Given the description of an element on the screen output the (x, y) to click on. 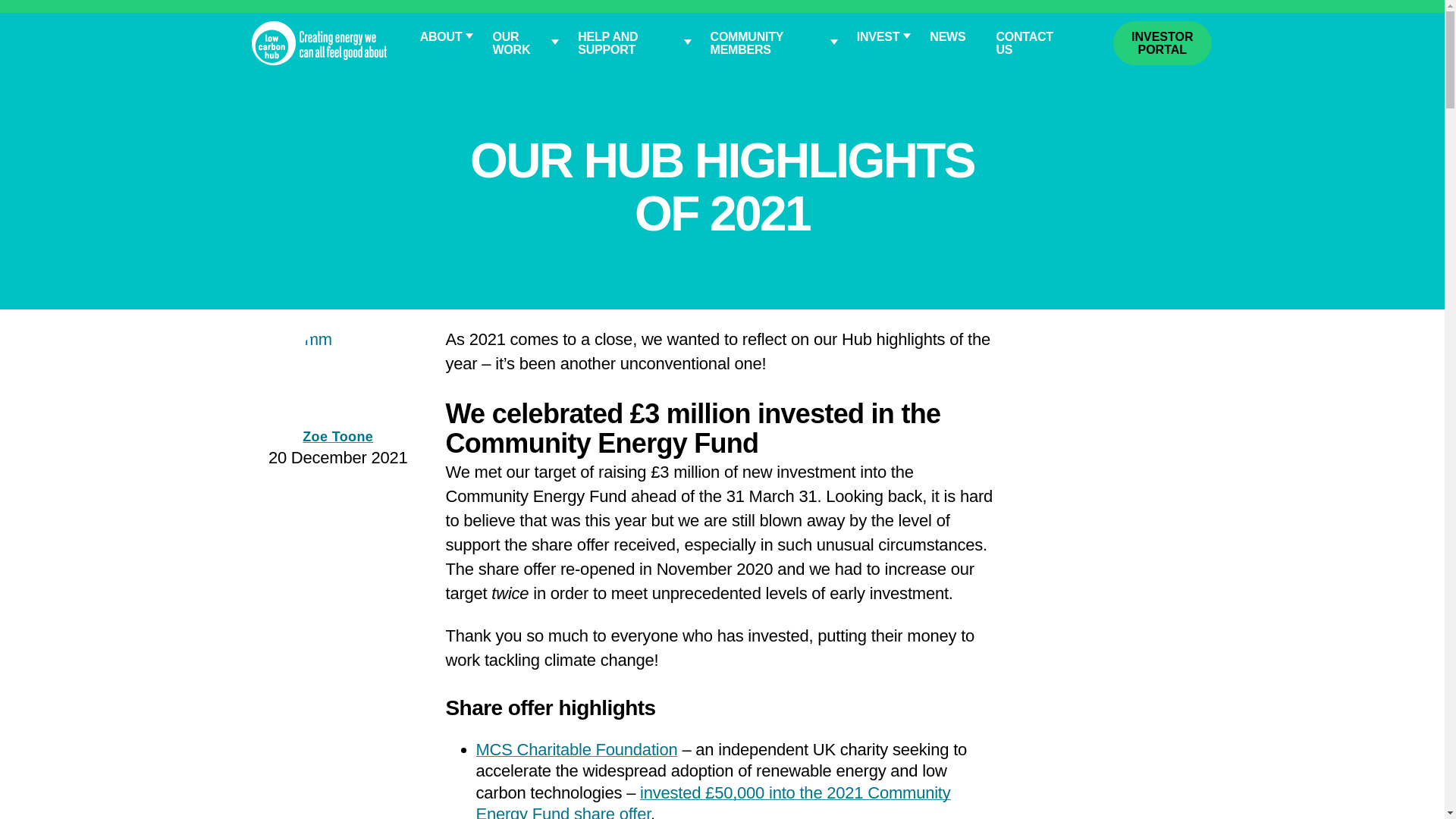
ABOUT (440, 36)
INVEST (877, 36)
NEWS (946, 36)
Low Carbon Hub (319, 42)
HELP AND SUPPORT (628, 43)
CONTACT US (1026, 43)
OUR WORK (519, 43)
COMMUNITY MEMBERS (768, 43)
